Given the description of an element on the screen output the (x, y) to click on. 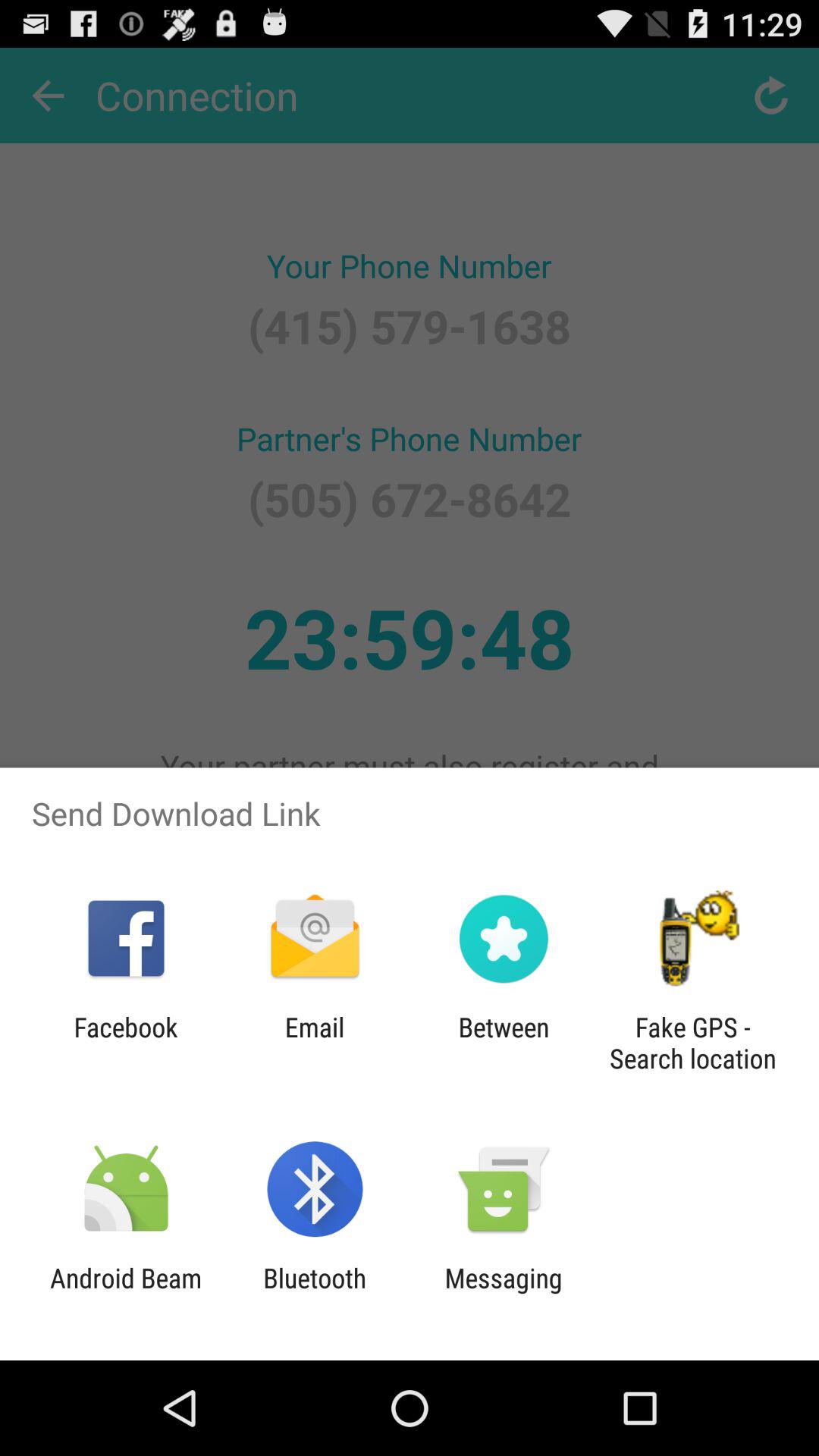
turn on the bluetooth item (314, 1293)
